Given the description of an element on the screen output the (x, y) to click on. 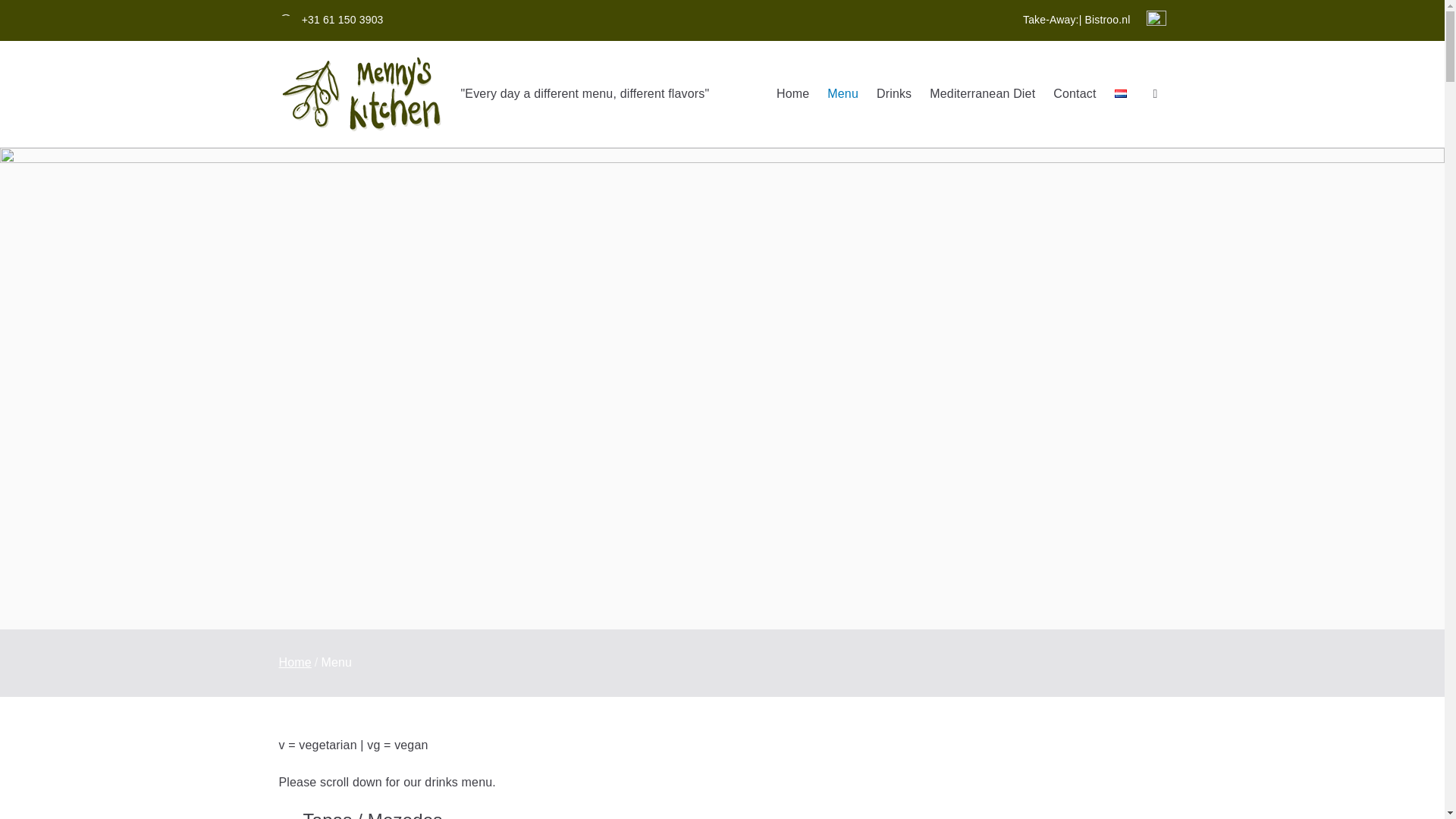
Home (792, 94)
Drinks (893, 94)
Bistroo.nl (1107, 19)
Menu (843, 94)
Home (295, 662)
Contact (1074, 94)
Mediterranean Diet (982, 94)
